Given the description of an element on the screen output the (x, y) to click on. 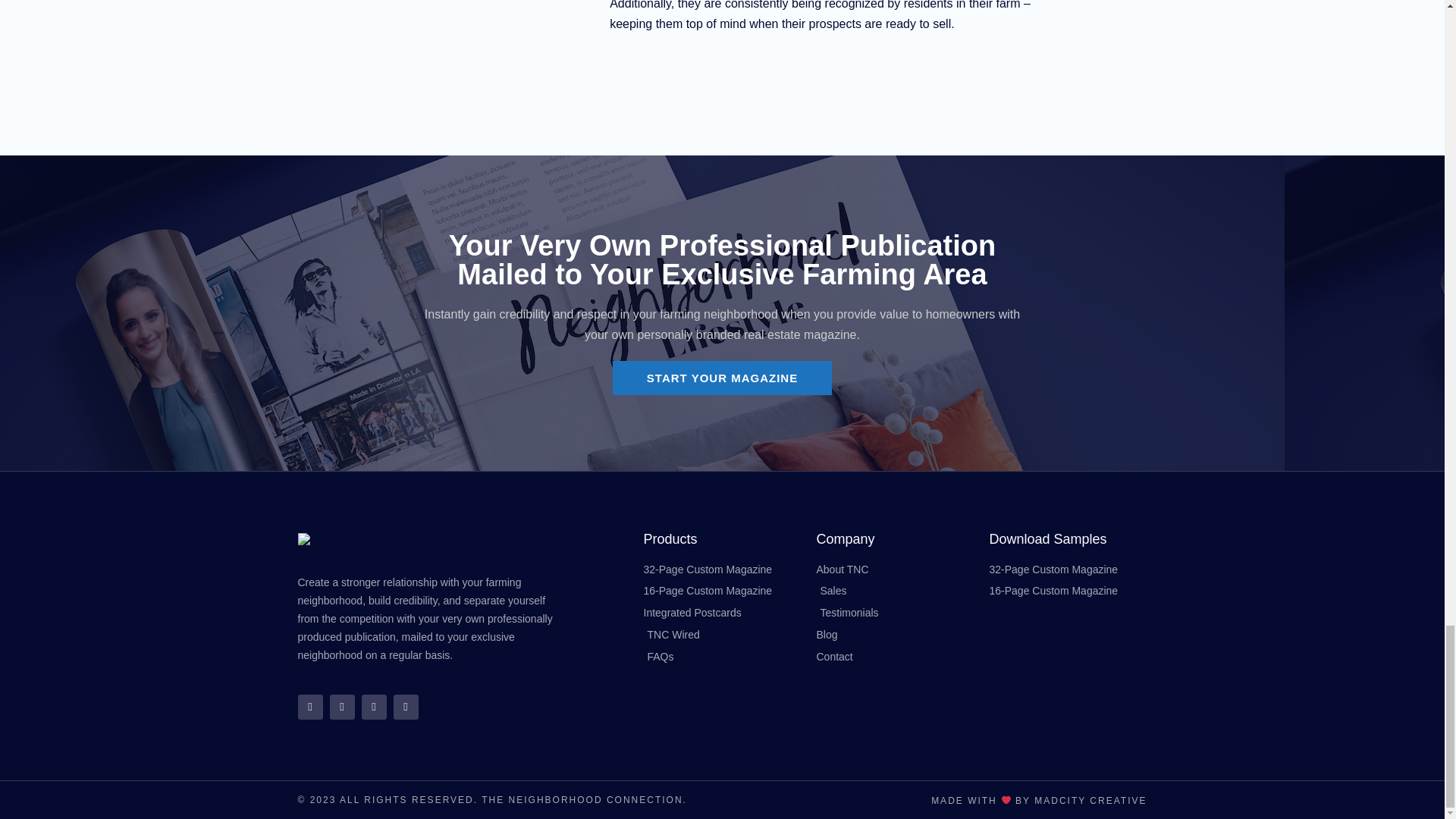
FAQs (721, 657)
32-Page Custom Magazine (721, 570)
Integrated Postcards (721, 613)
About TNC (894, 570)
TNC Wired (721, 635)
16-Page Custom Magazine (721, 591)
Sales (894, 591)
START YOUR MAGAZINE (721, 377)
